Given the description of an element on the screen output the (x, y) to click on. 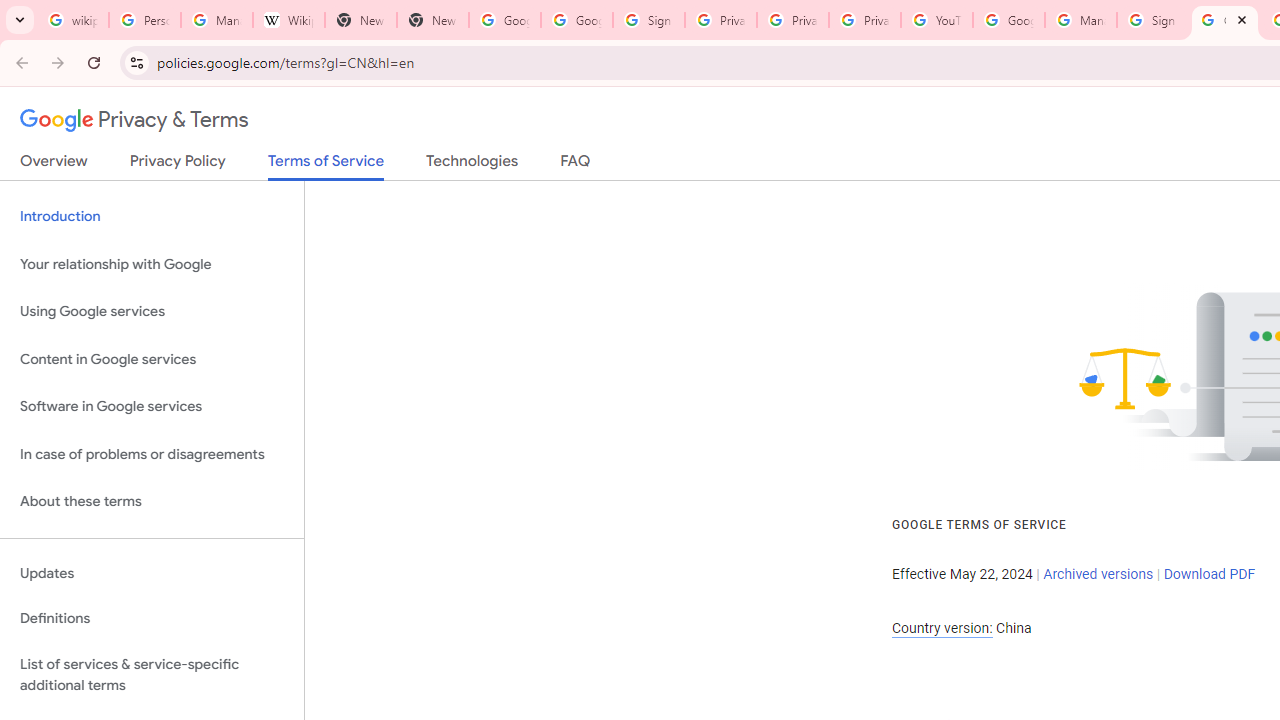
Archived versions (1098, 574)
Country version: (942, 628)
Google Account Help (1008, 20)
YouTube (936, 20)
Sign in - Google Accounts (648, 20)
Technologies (472, 165)
Wikipedia:Edit requests - Wikipedia (289, 20)
Using Google services (152, 312)
List of services & service-specific additional terms (152, 674)
